Given the description of an element on the screen output the (x, y) to click on. 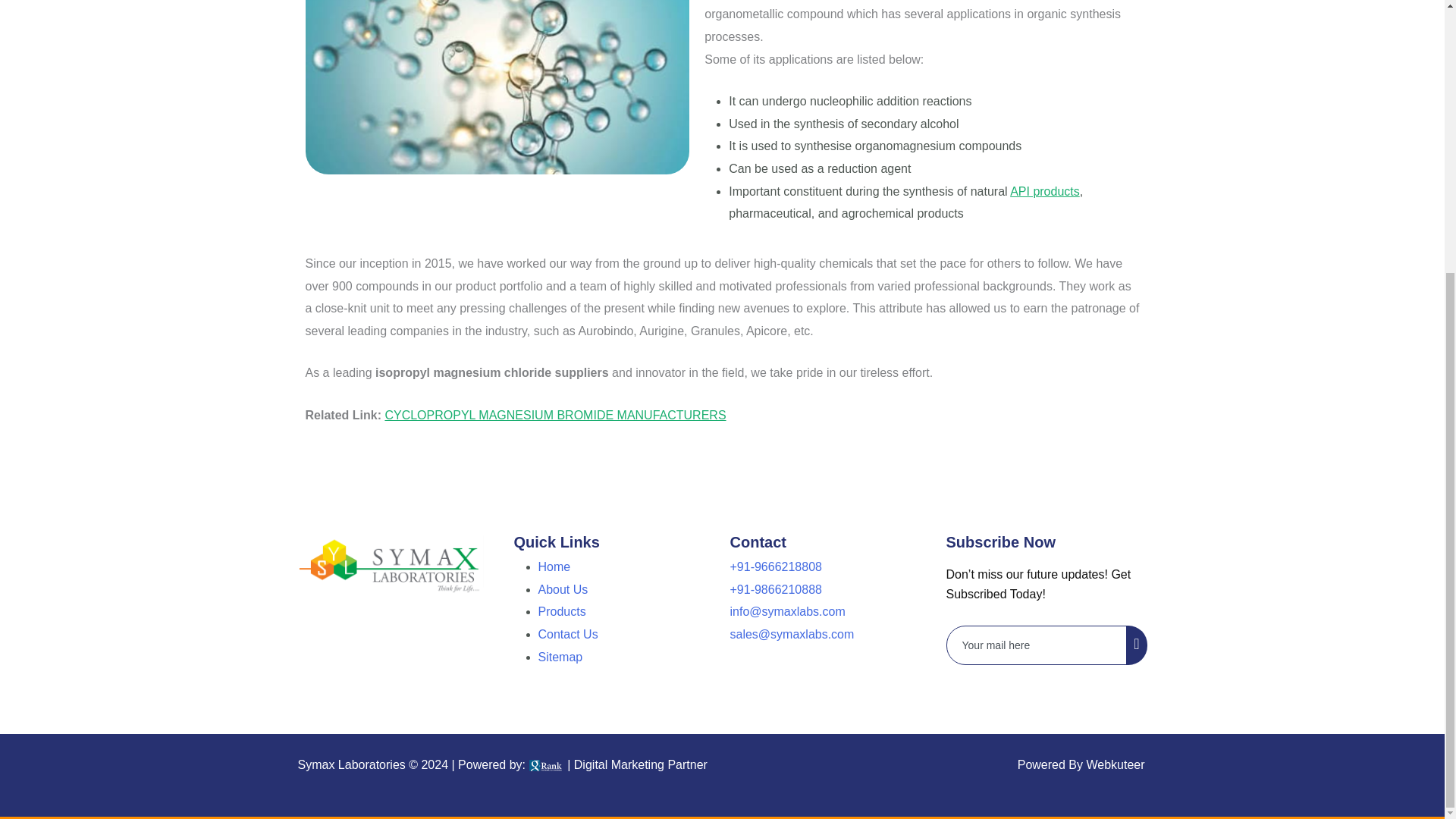
API products (1045, 191)
Home (554, 566)
About Us (563, 589)
Products (562, 611)
CYCLOPROPYL MAGNESIUM BROMIDE MANUFACTURERS (554, 414)
